Given the description of an element on the screen output the (x, y) to click on. 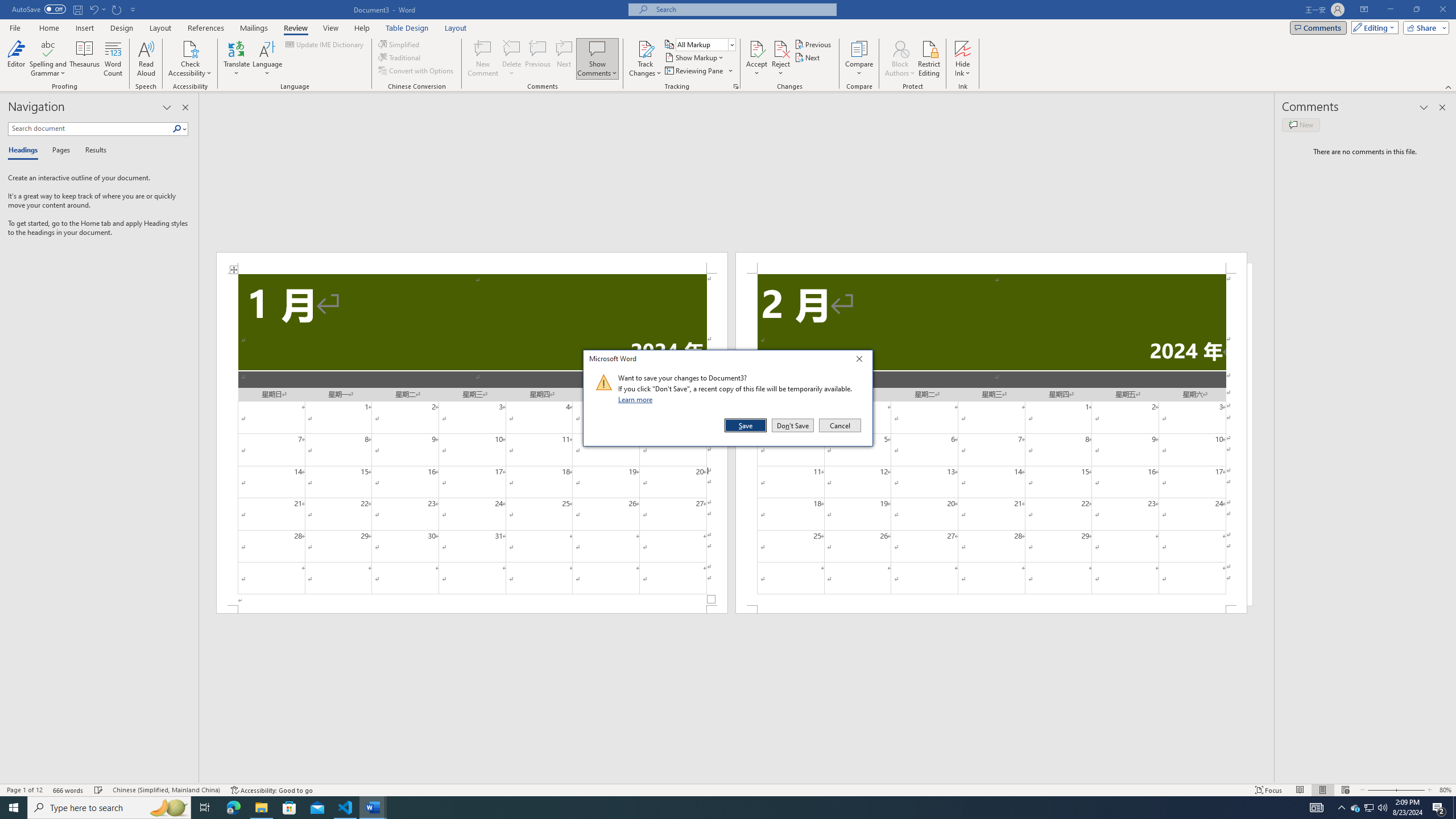
Cancel (839, 425)
Undo Increase Indent (96, 9)
Results (91, 150)
Spelling and Grammar Check Checking (98, 790)
Compare (859, 58)
Change Tracking Options... (735, 85)
Word Count 666 words (68, 790)
Show Comments (597, 58)
Next (808, 56)
Running applications (717, 807)
